Given the description of an element on the screen output the (x, y) to click on. 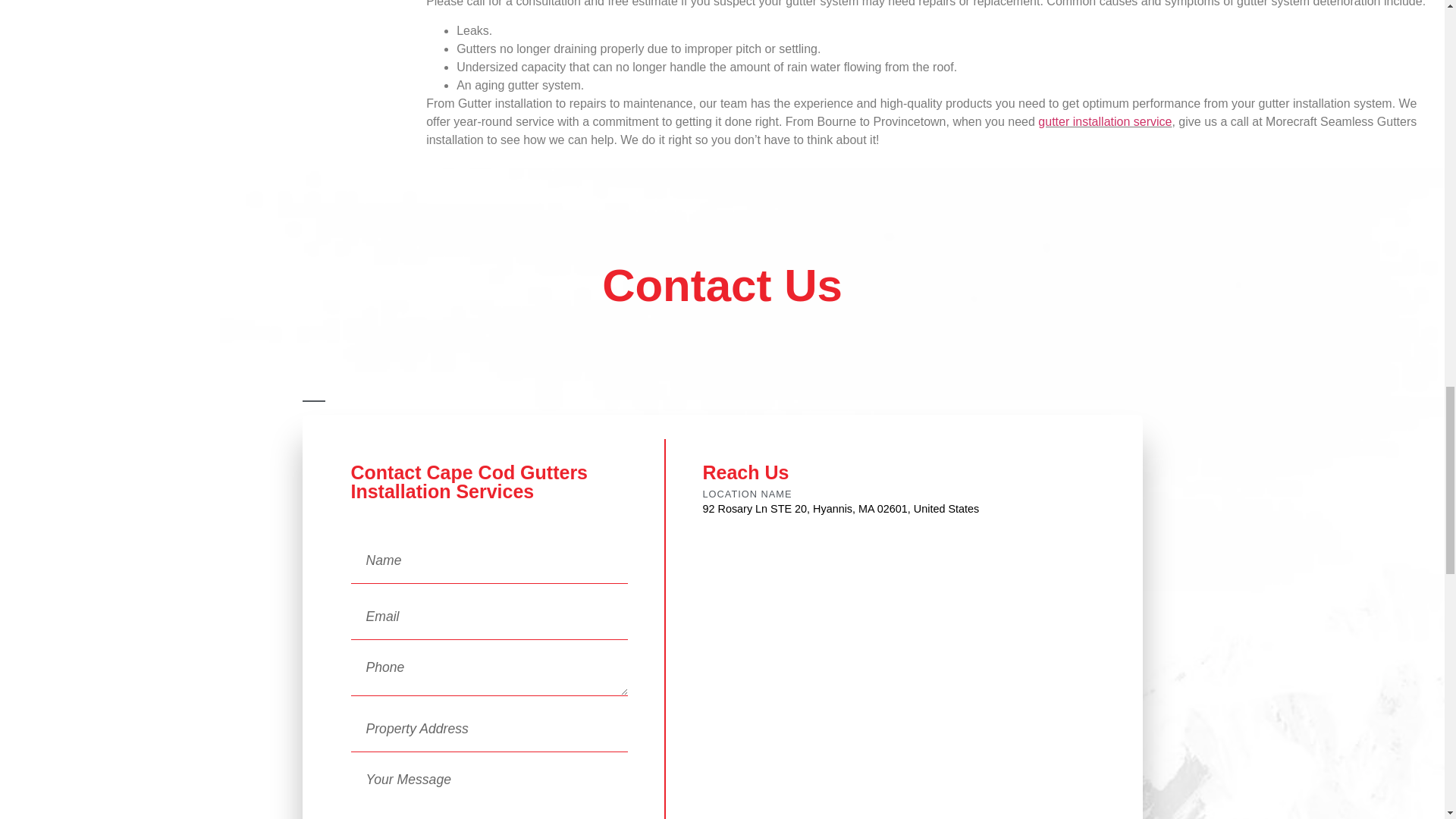
gutter installation service (1105, 121)
